Given the description of an element on the screen output the (x, y) to click on. 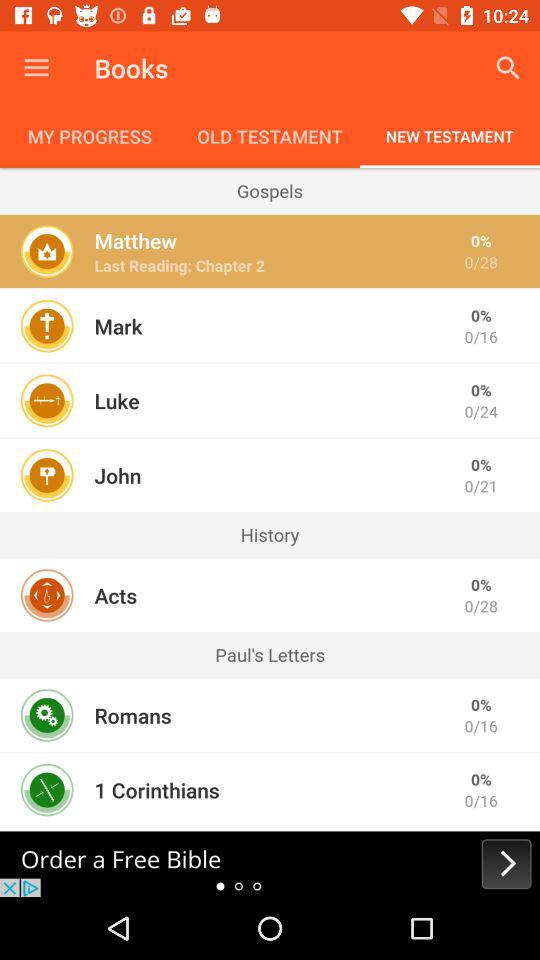
tap the item next to 0/16 item (132, 715)
